Given the description of an element on the screen output the (x, y) to click on. 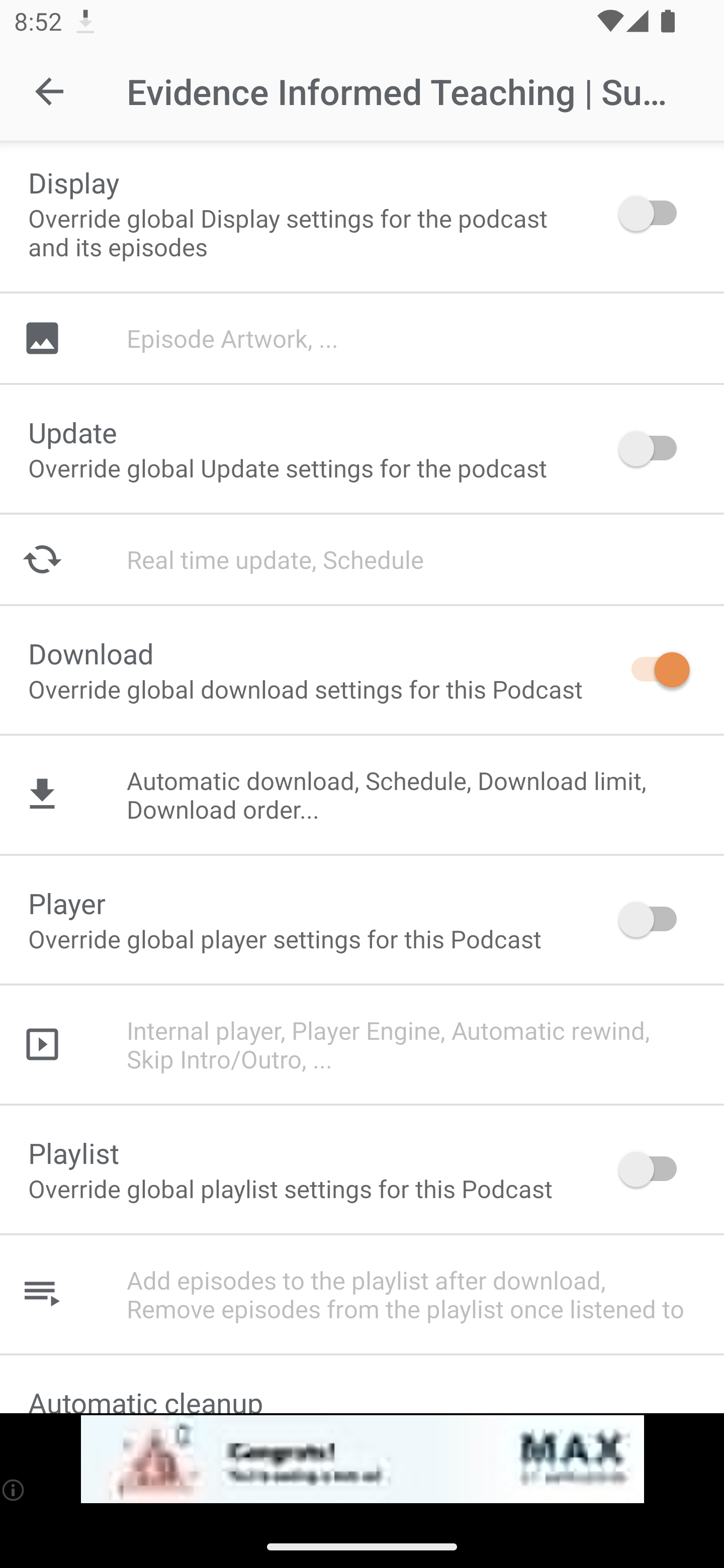
Navigate up (49, 91)
Episode Artwork, ... (362, 337)
Real time update, Schedule (362, 558)
app-monetization (362, 1459)
(i) (14, 1489)
